Given the description of an element on the screen output the (x, y) to click on. 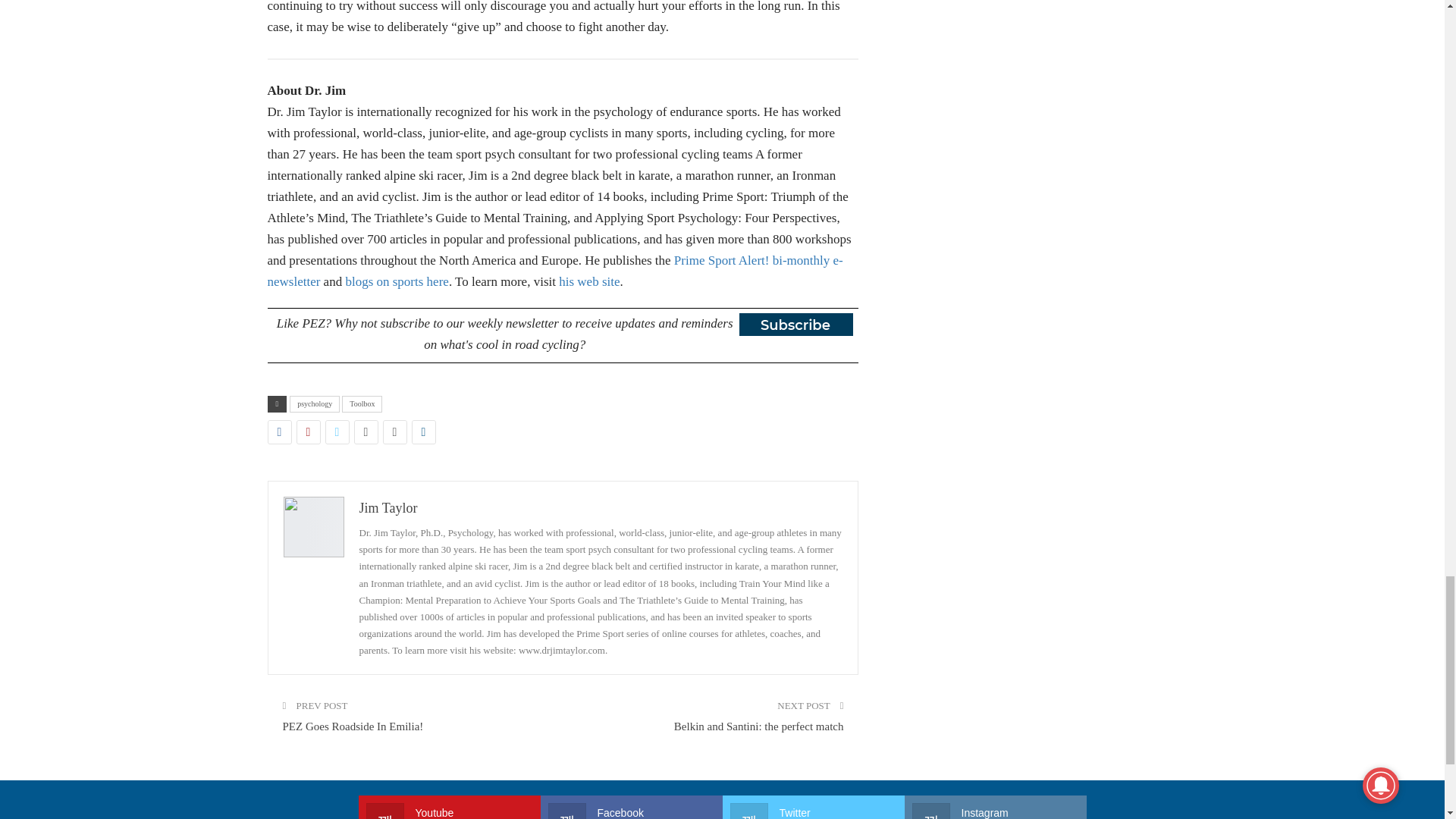
Prime sport alerts (554, 271)
psychology (314, 403)
Dr. Jim's sports blogs (396, 281)
Prime Sport Alert! bi-monthly e-newsletter (554, 271)
his web site (589, 281)
Toolbox (361, 403)
blogs on sports here (396, 281)
Jim's website (589, 281)
